Given the description of an element on the screen output the (x, y) to click on. 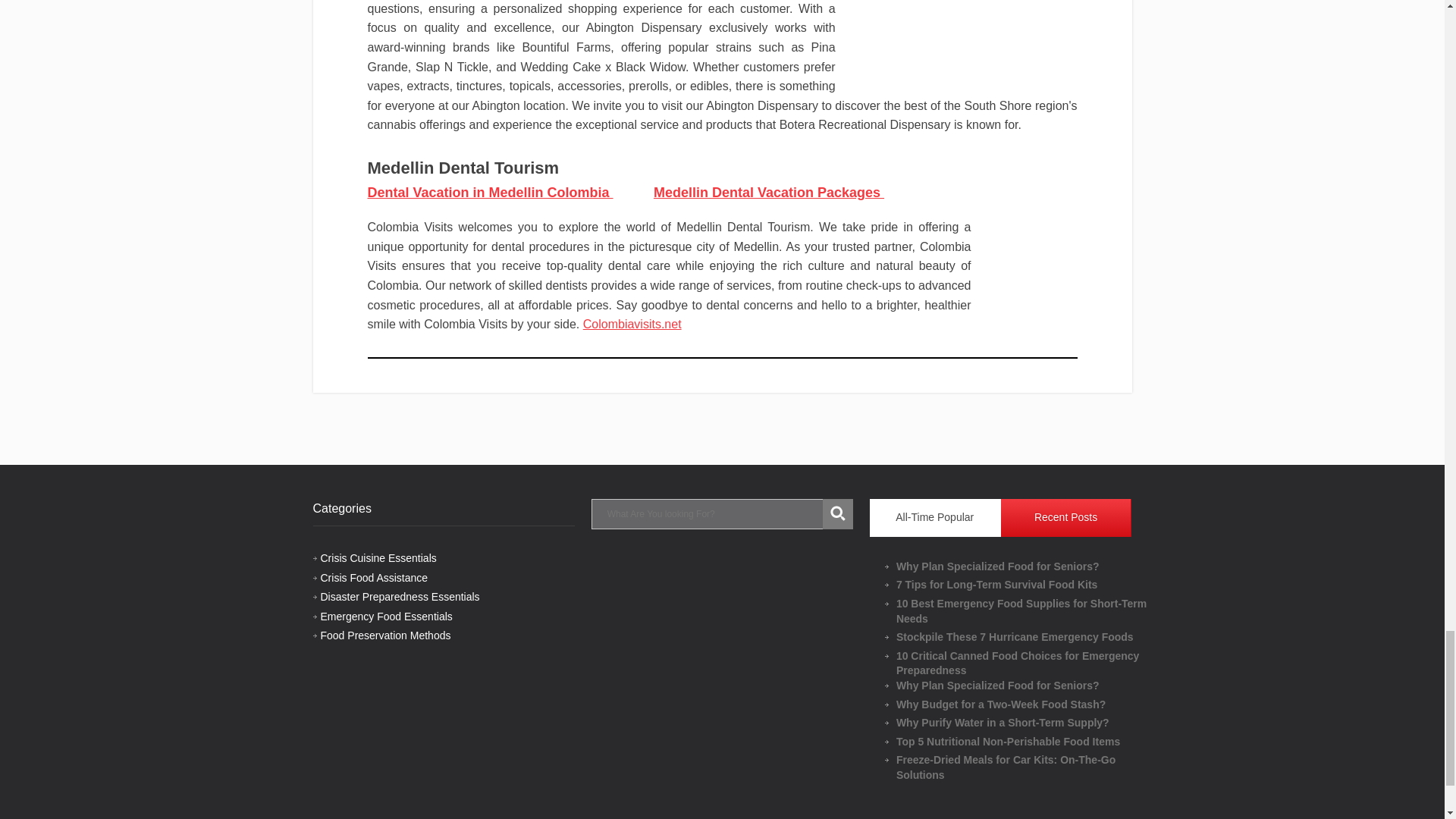
Crisis Food Assistance (374, 577)
Crisis Cuisine Essentials (377, 558)
Medellin Dental Tourism (462, 167)
Medellin Dental Vacation Packages (768, 192)
Colombiavisits.net (632, 323)
Dental Vacation in Medellin Colombia (489, 192)
